Given the description of an element on the screen output the (x, y) to click on. 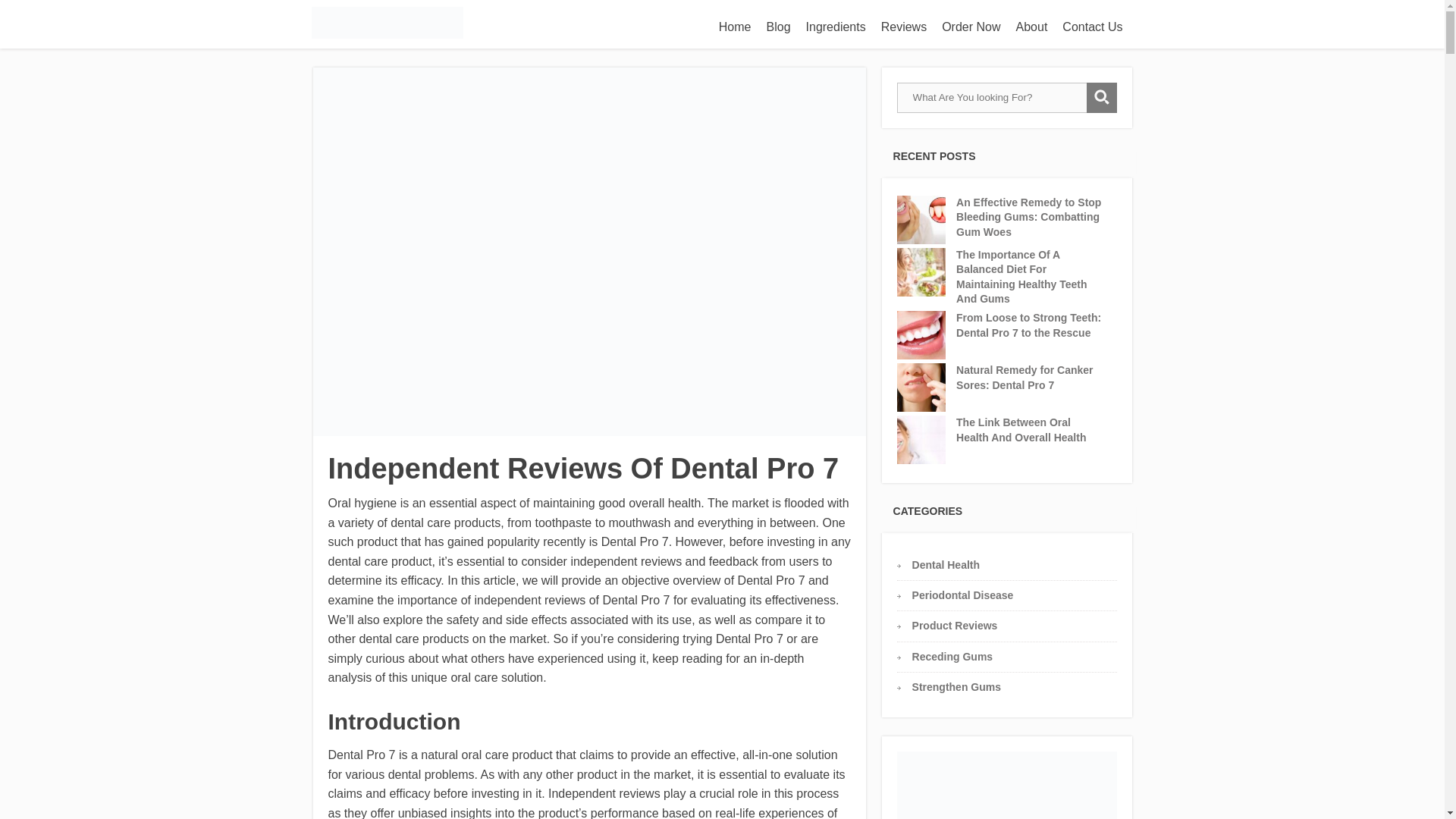
Strengthen Gums (956, 686)
Periodontal Disease (962, 594)
The Link Between Oral Health And Overall Health (1029, 430)
From Loose to Strong Teeth: Dental Pro 7 to the Rescue (1029, 325)
Ingredients (835, 27)
About (1032, 27)
Receding Gums (952, 656)
Natural Remedy for Canker Sores: Dental Pro 7 (1029, 378)
Reviews (903, 27)
